Given the description of an element on the screen output the (x, y) to click on. 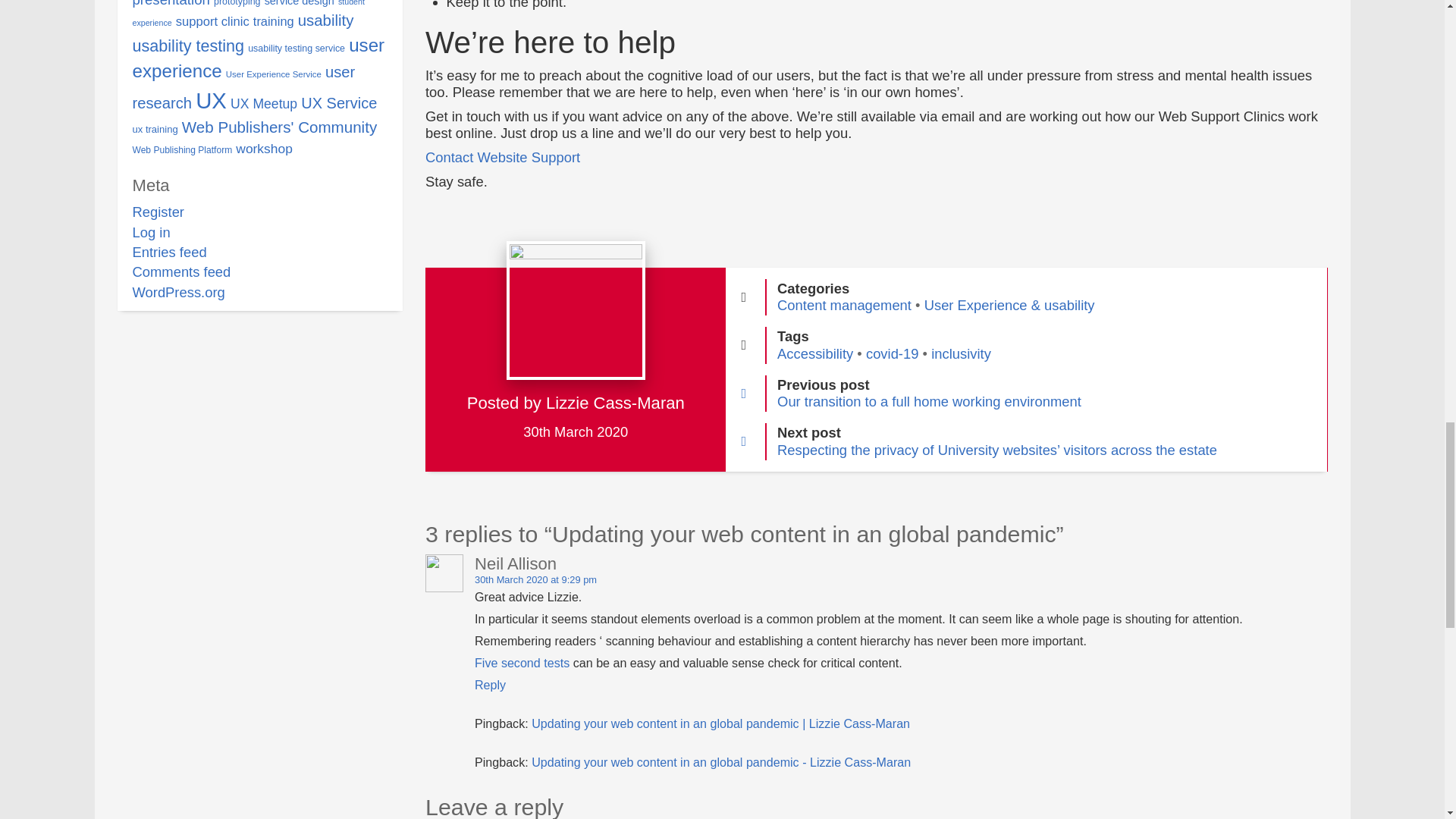
article on UIE.com (521, 662)
Posts by Lizzie Cass-Maran (615, 402)
